Given the description of an element on the screen output the (x, y) to click on. 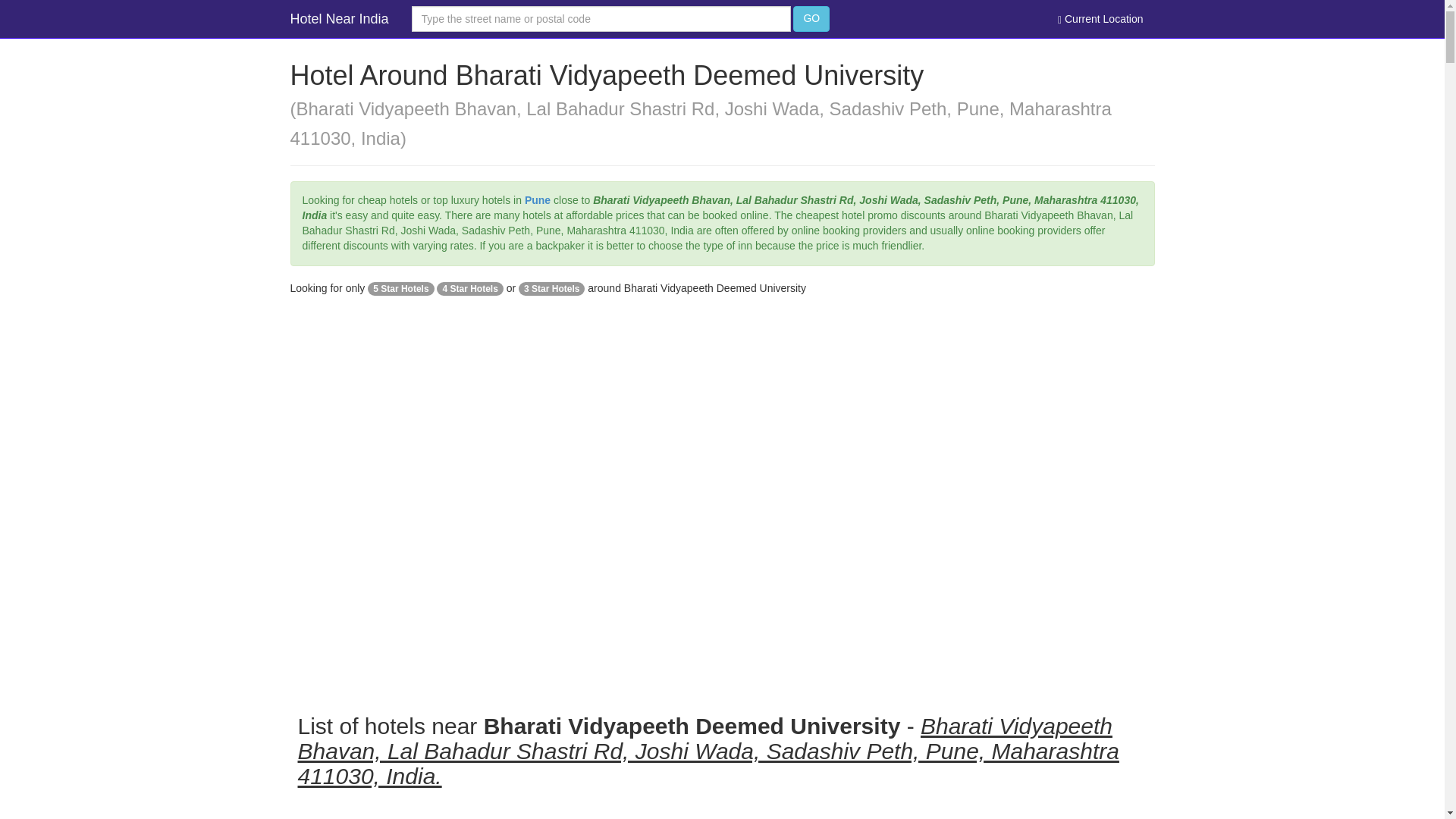
Pune (537, 200)
5 Star Hotels (400, 287)
GO (811, 18)
4 Star Hotels (469, 287)
Hotel Near India (339, 18)
Current Location (1100, 18)
3 Star Hotels (551, 287)
